Given the description of an element on the screen output the (x, y) to click on. 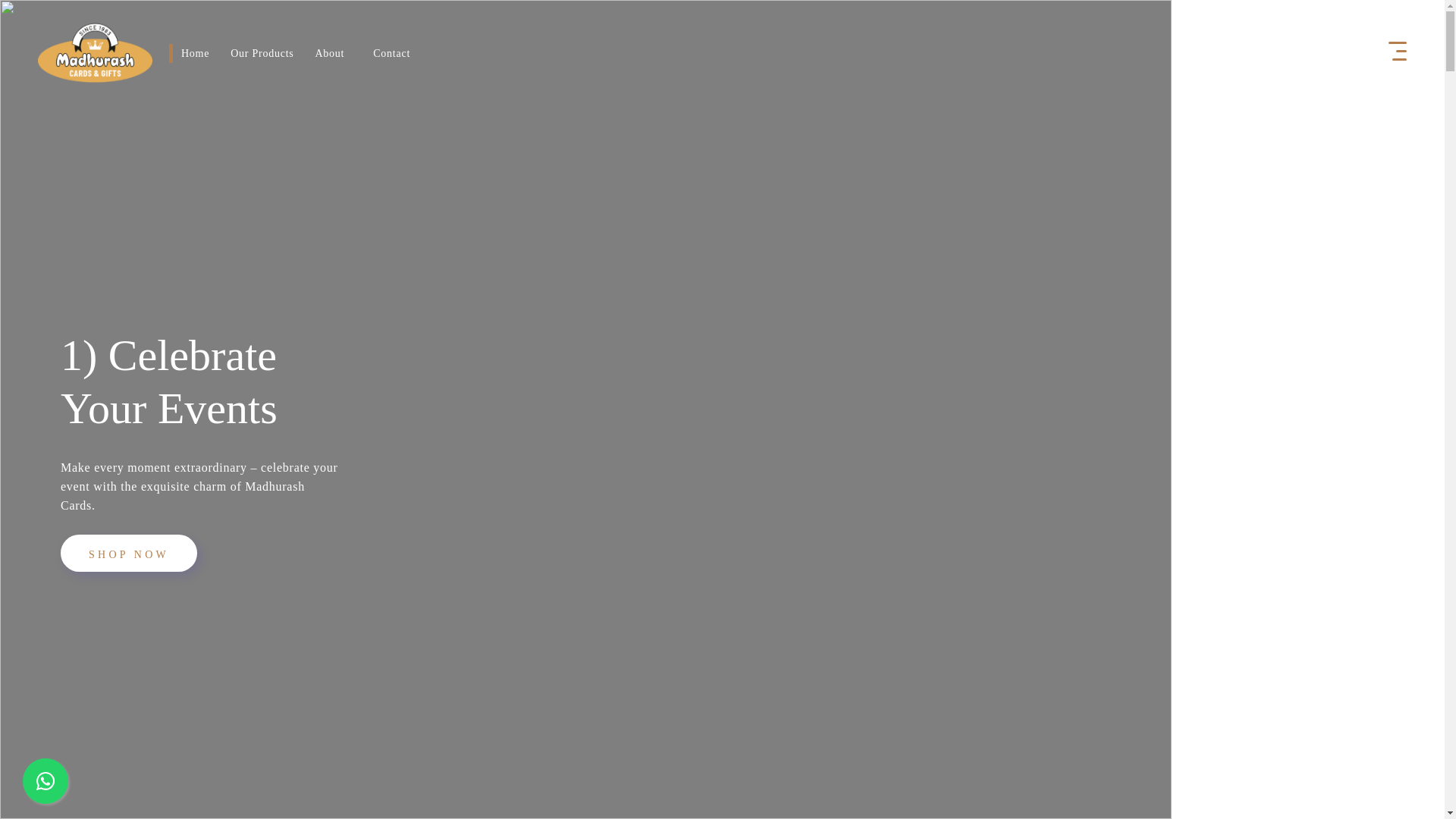
My Wishlist (1287, 52)
My Account (1362, 52)
About (328, 52)
Our Products (261, 52)
My Cart (1324, 52)
Search (1249, 52)
Contact (391, 52)
